Given the description of an element on the screen output the (x, y) to click on. 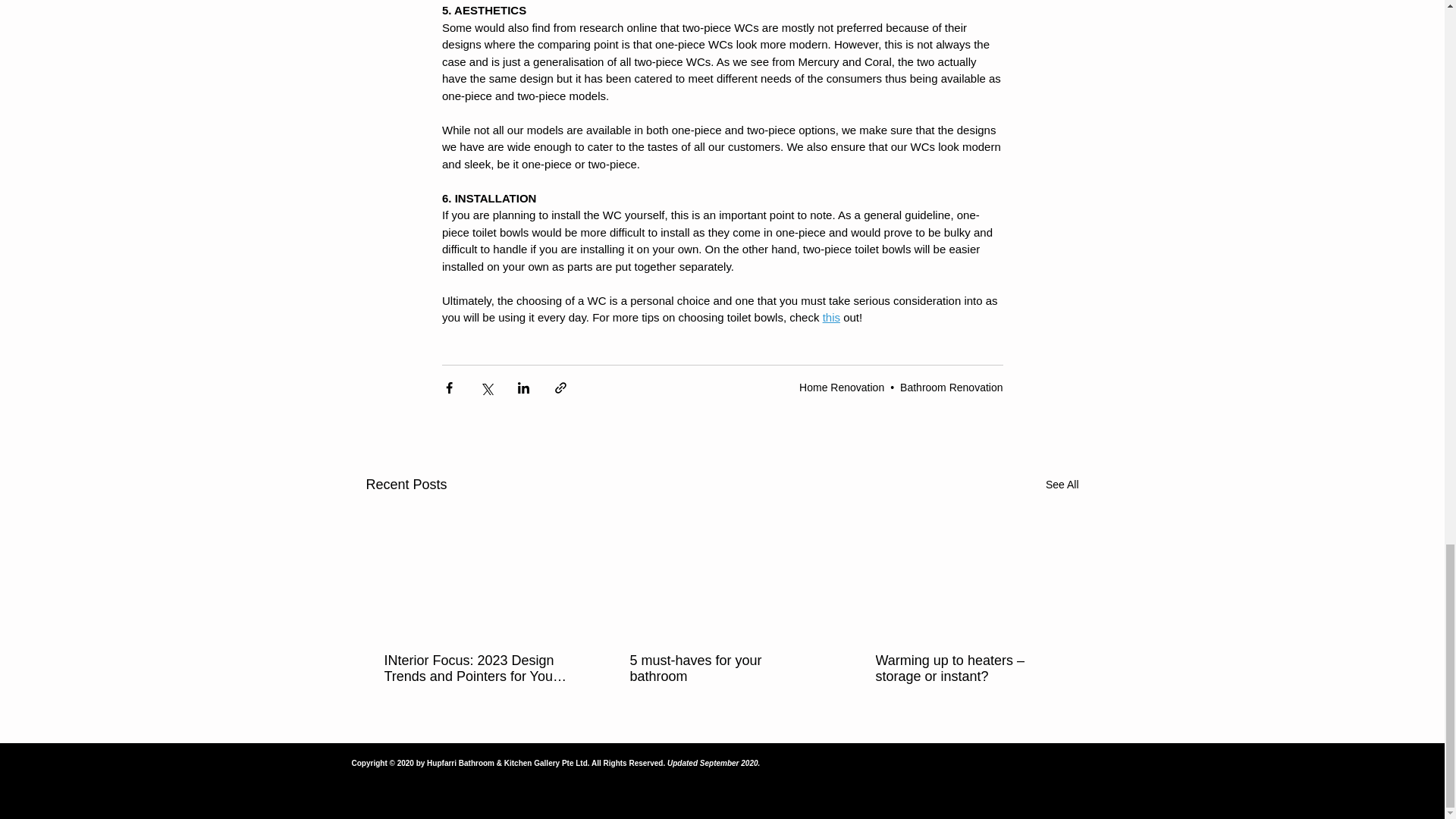
Home Renovation (841, 387)
this (831, 317)
Bathroom Renovation (951, 387)
See All (1061, 485)
